Given the description of an element on the screen output the (x, y) to click on. 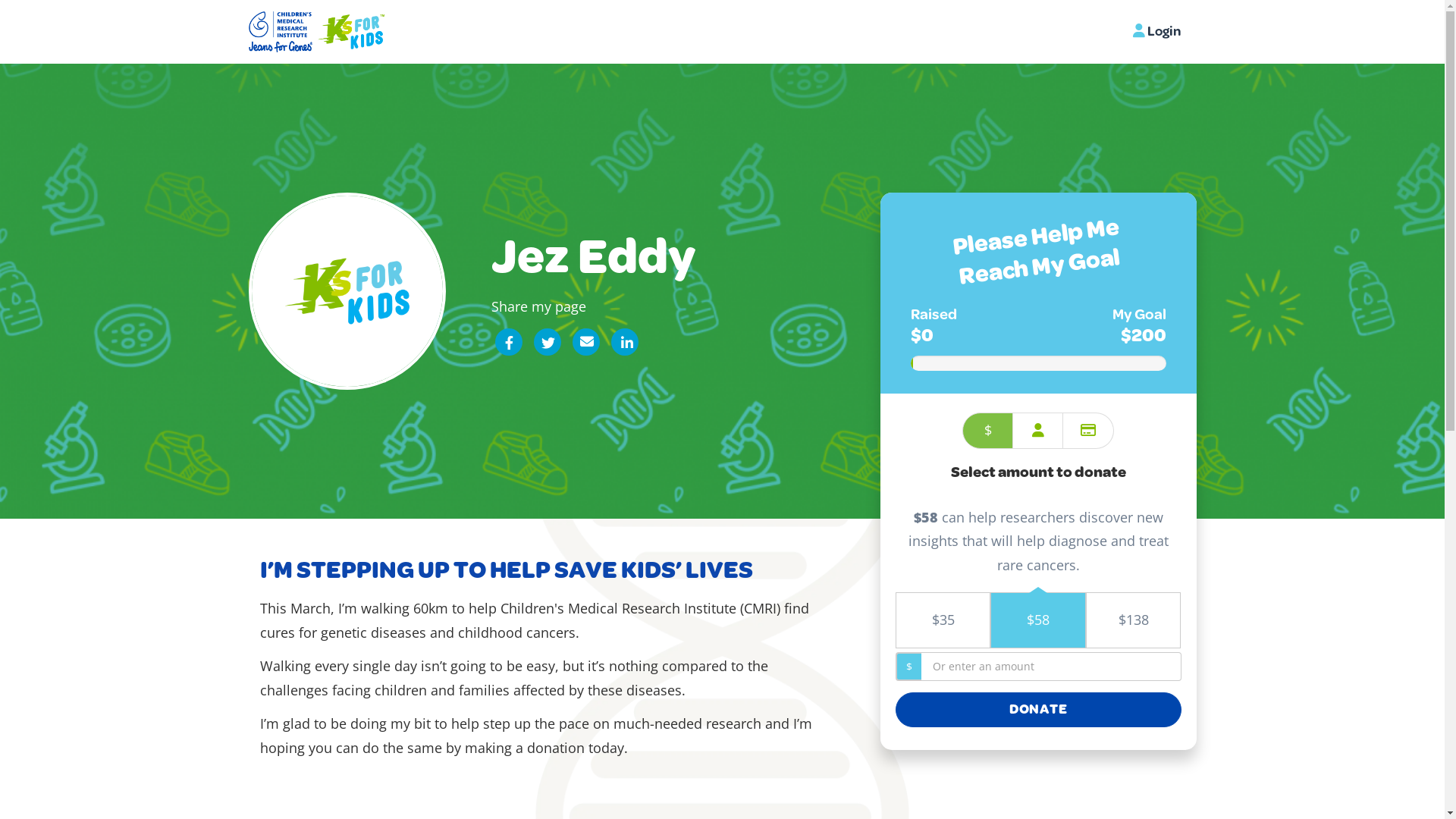
Login Element type: text (1156, 31)
$138 Element type: text (1133, 620)
$58 Element type: text (1038, 620)
DONATE Element type: text (1038, 710)
$35 Element type: text (943, 620)
$ Element type: text (987, 430)
